Given the description of an element on the screen output the (x, y) to click on. 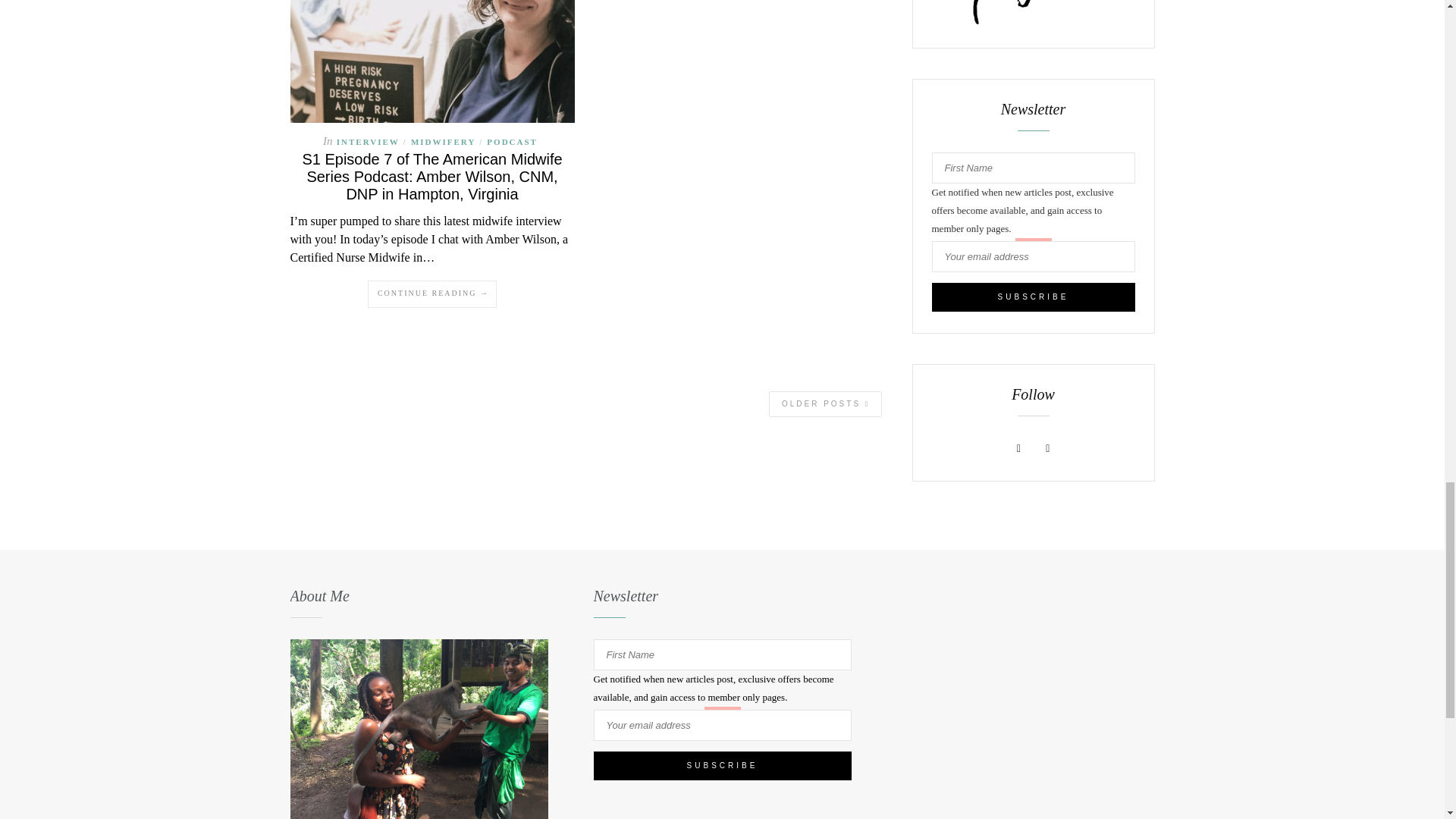
Subscribe (721, 765)
Subscribe (1032, 297)
